Given the description of an element on the screen output the (x, y) to click on. 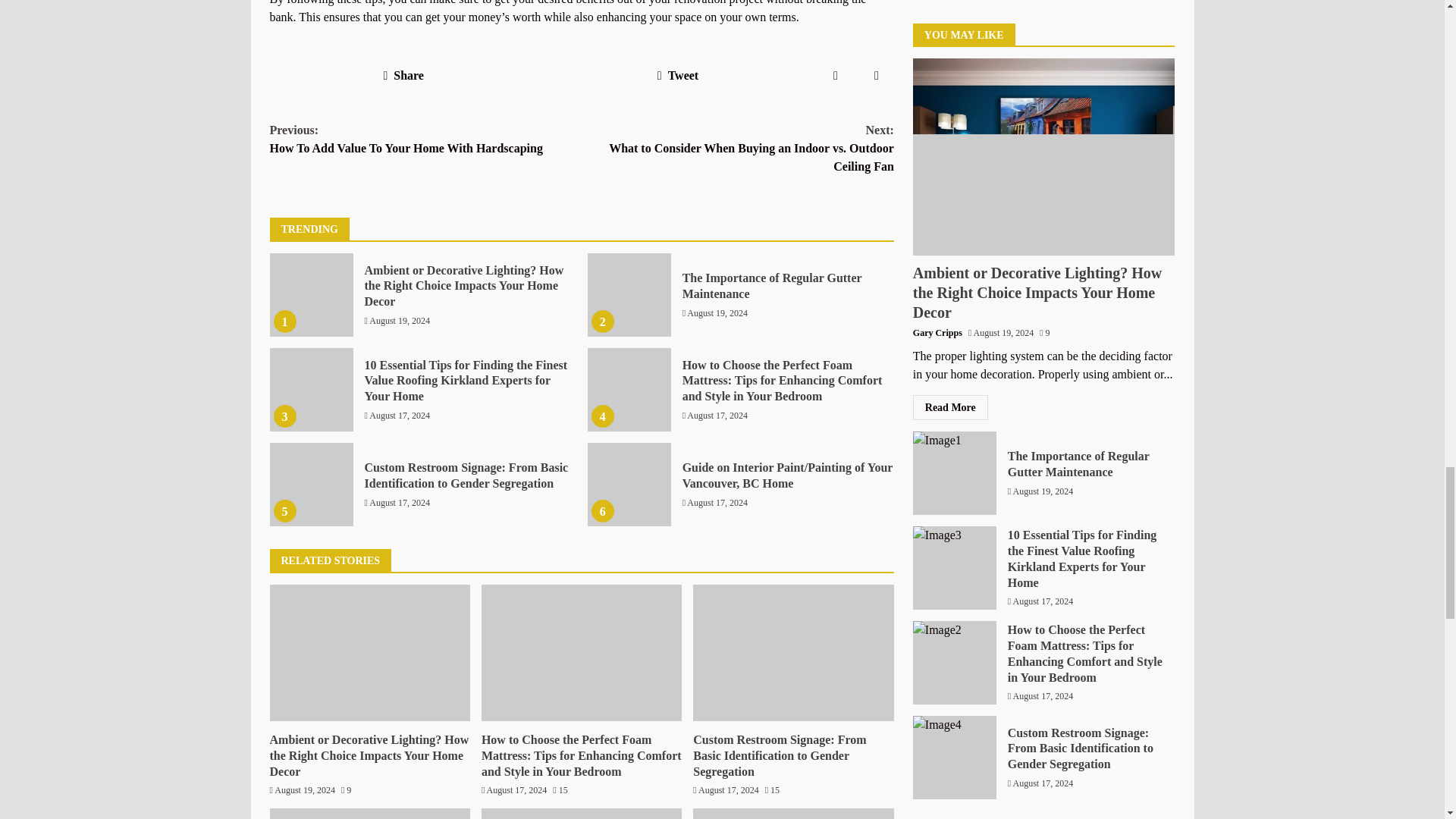
Share (403, 75)
The Importance of Regular Gutter Maintenance (771, 285)
Tweet (677, 75)
